Given the description of an element on the screen output the (x, y) to click on. 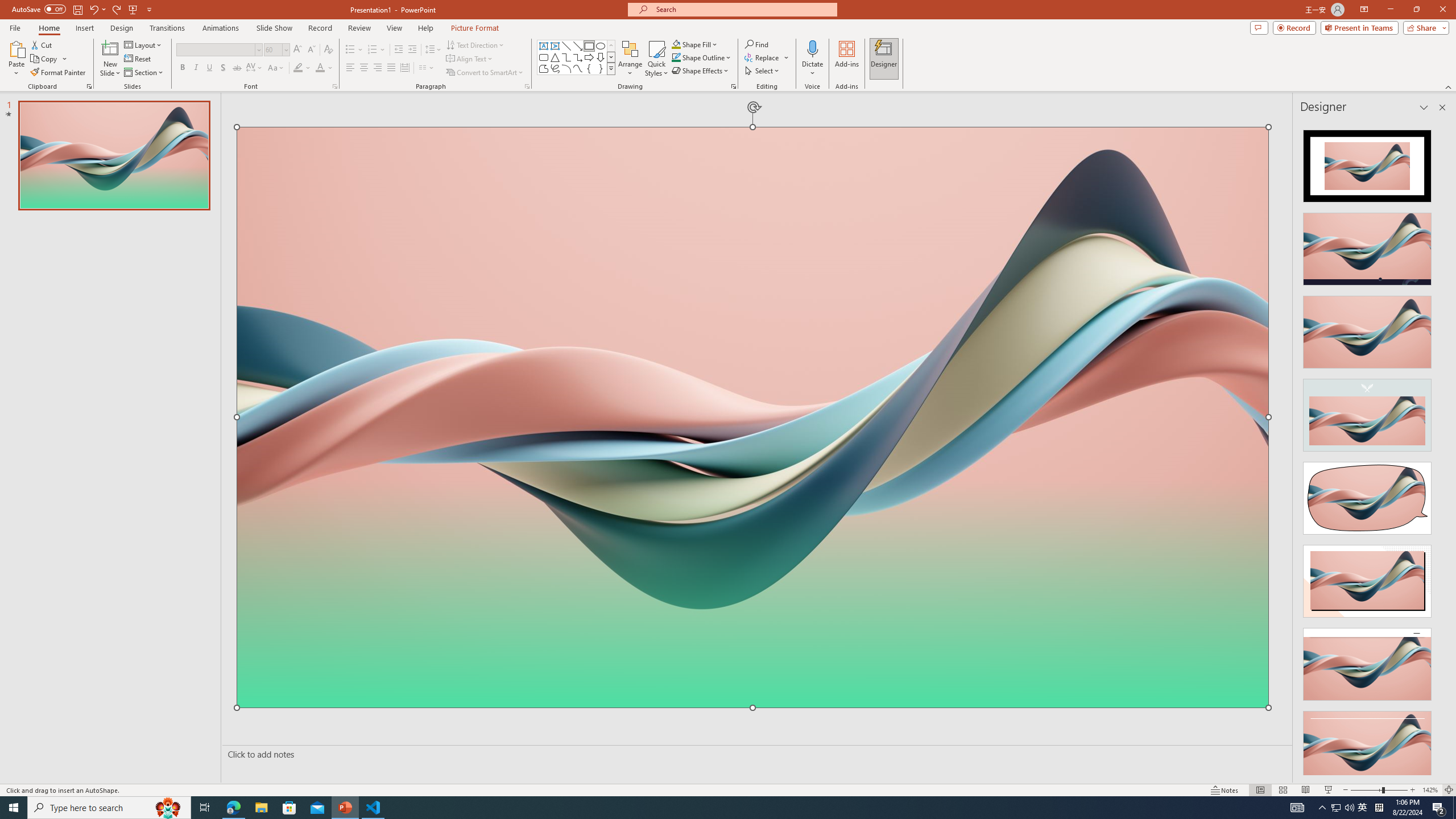
Wavy 3D art (752, 417)
